Given the description of an element on the screen output the (x, y) to click on. 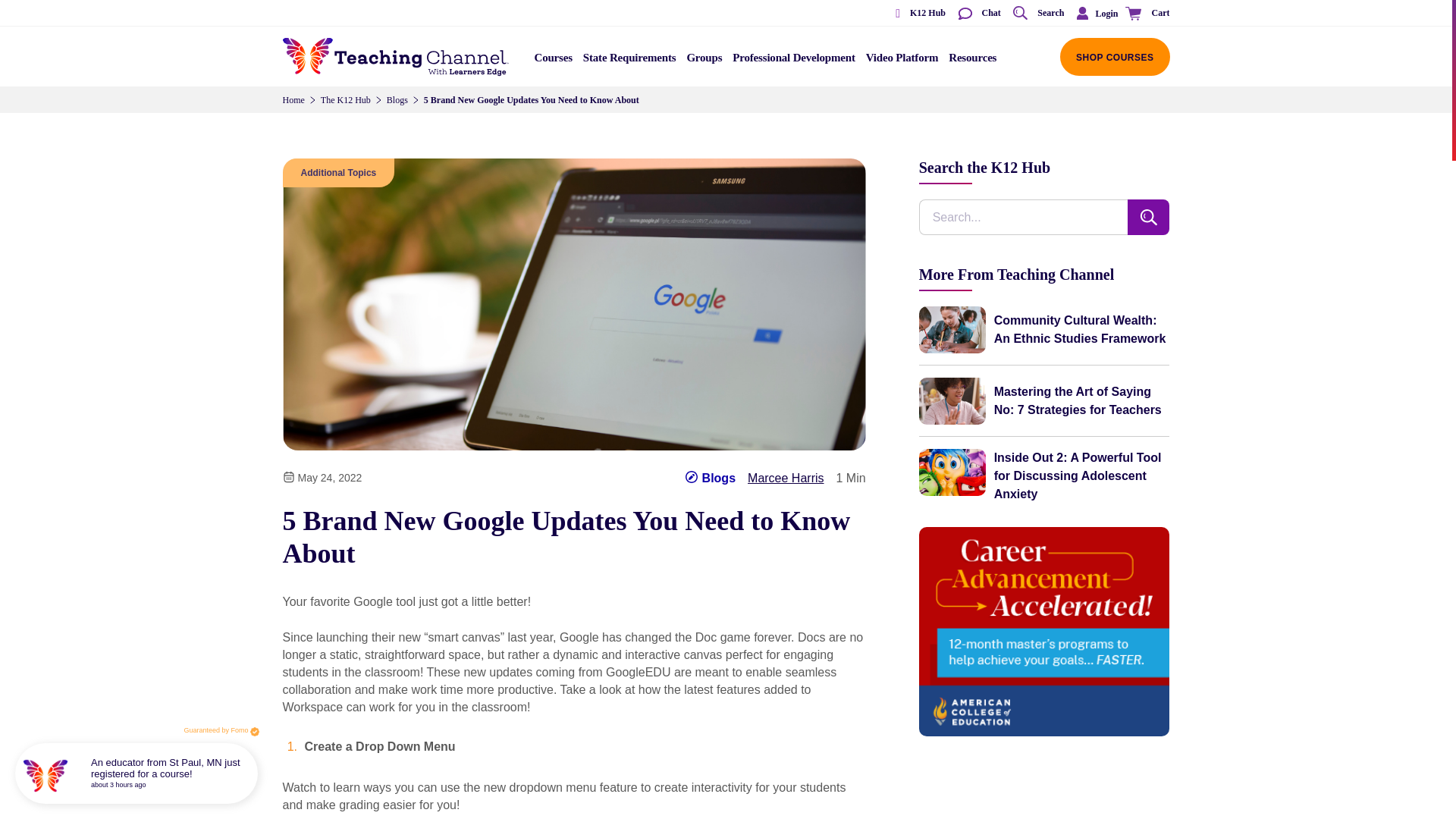
Login (1093, 12)
Search (1037, 13)
Cart (1145, 13)
K12 Hub (914, 13)
Chat (978, 13)
State Requirements (629, 62)
Courses (553, 62)
